Given the description of an element on the screen output the (x, y) to click on. 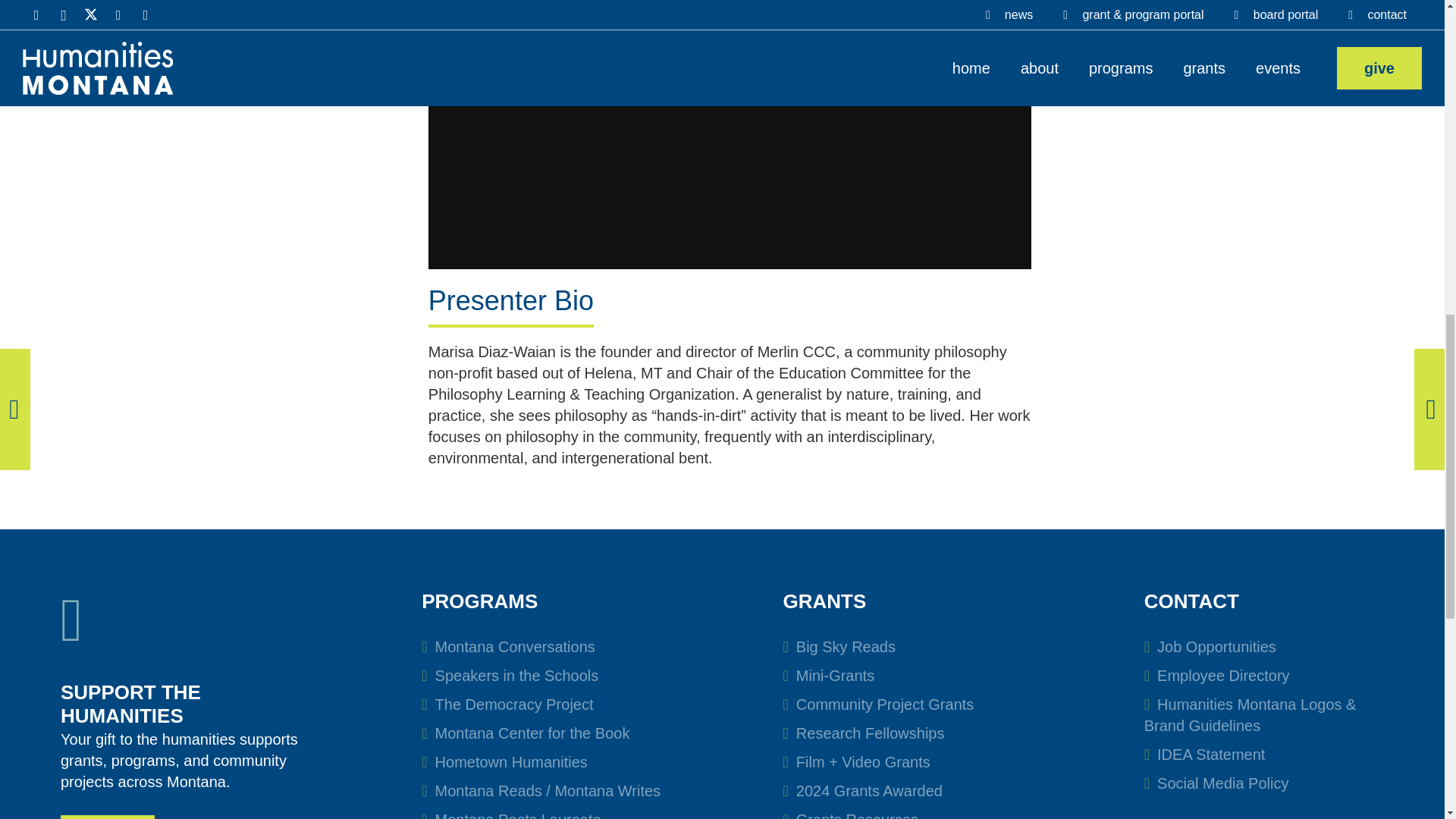
Back to top (1413, 26)
Donate (107, 816)
